Given the description of an element on the screen output the (x, y) to click on. 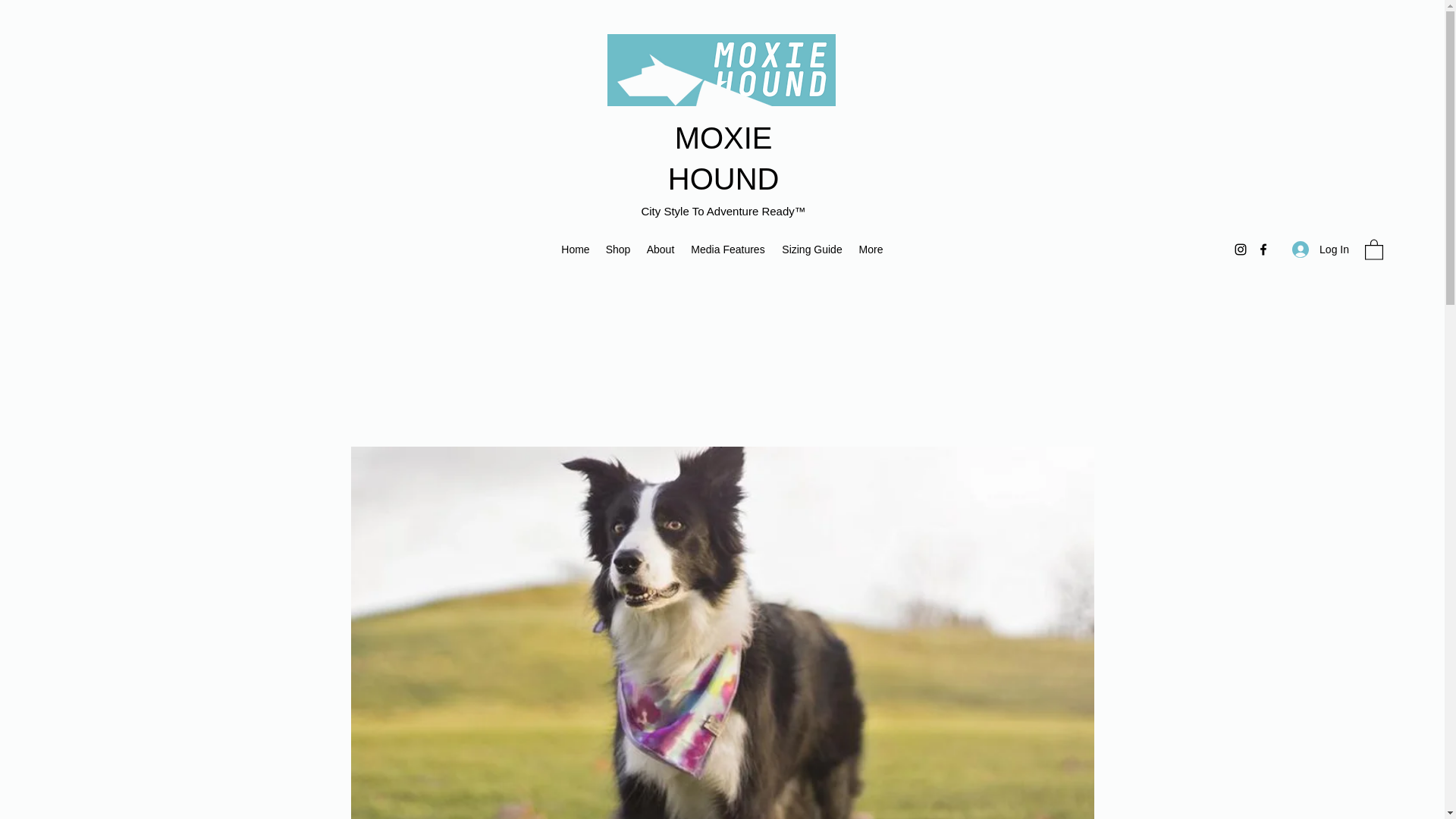
Sizing Guide (811, 249)
About (660, 249)
Home (574, 249)
Shop (617, 249)
Log In (1320, 249)
MOXIE HOUND (723, 158)
Media Features (727, 249)
